Given the description of an element on the screen output the (x, y) to click on. 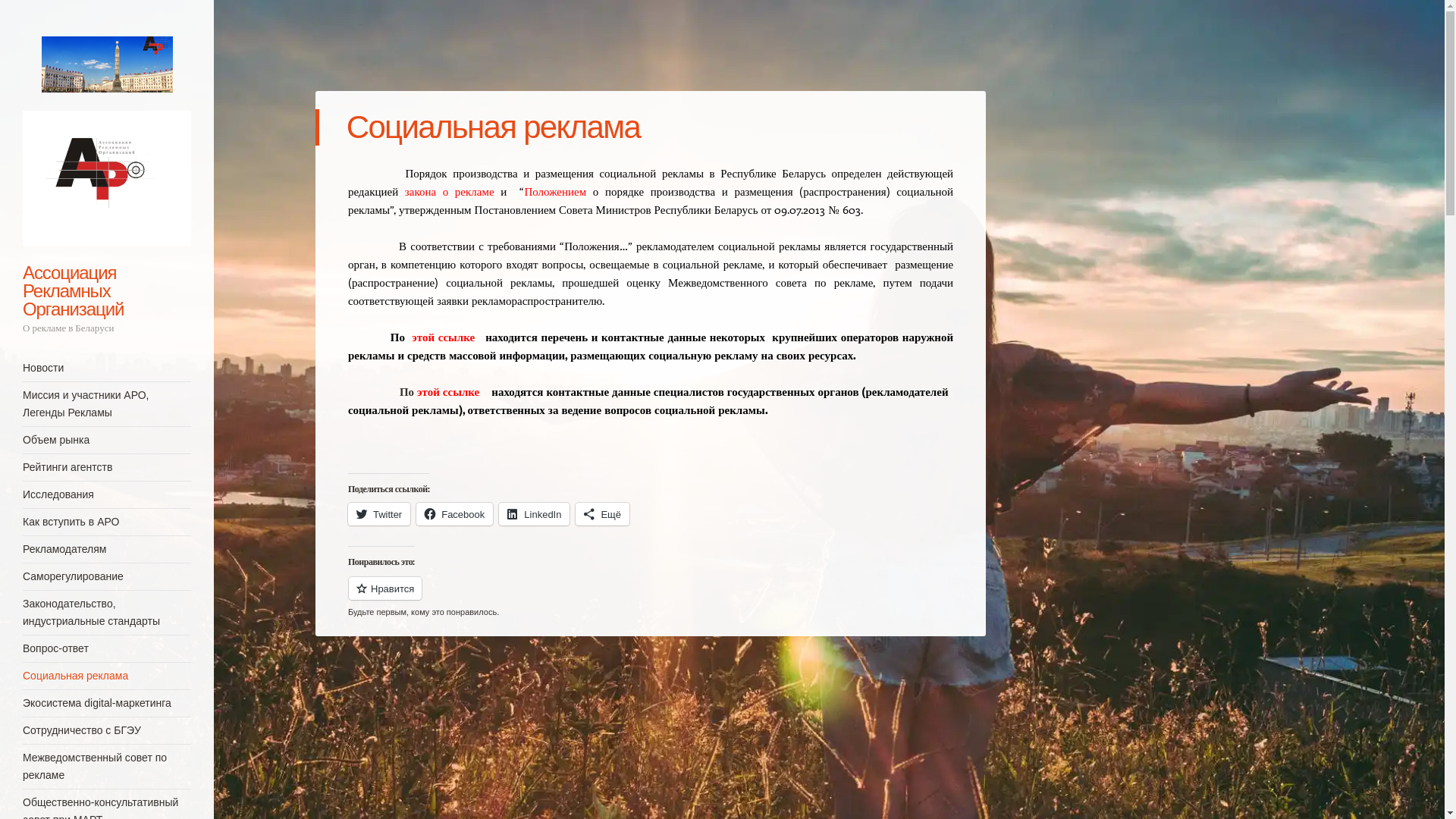
LinkedIn Element type: text (533, 513)
Search Element type: text (31, 11)
Skip to content Element type: text (57, 367)
Twitter Element type: text (379, 513)
Facebook Element type: text (454, 513)
